Given the description of an element on the screen output the (x, y) to click on. 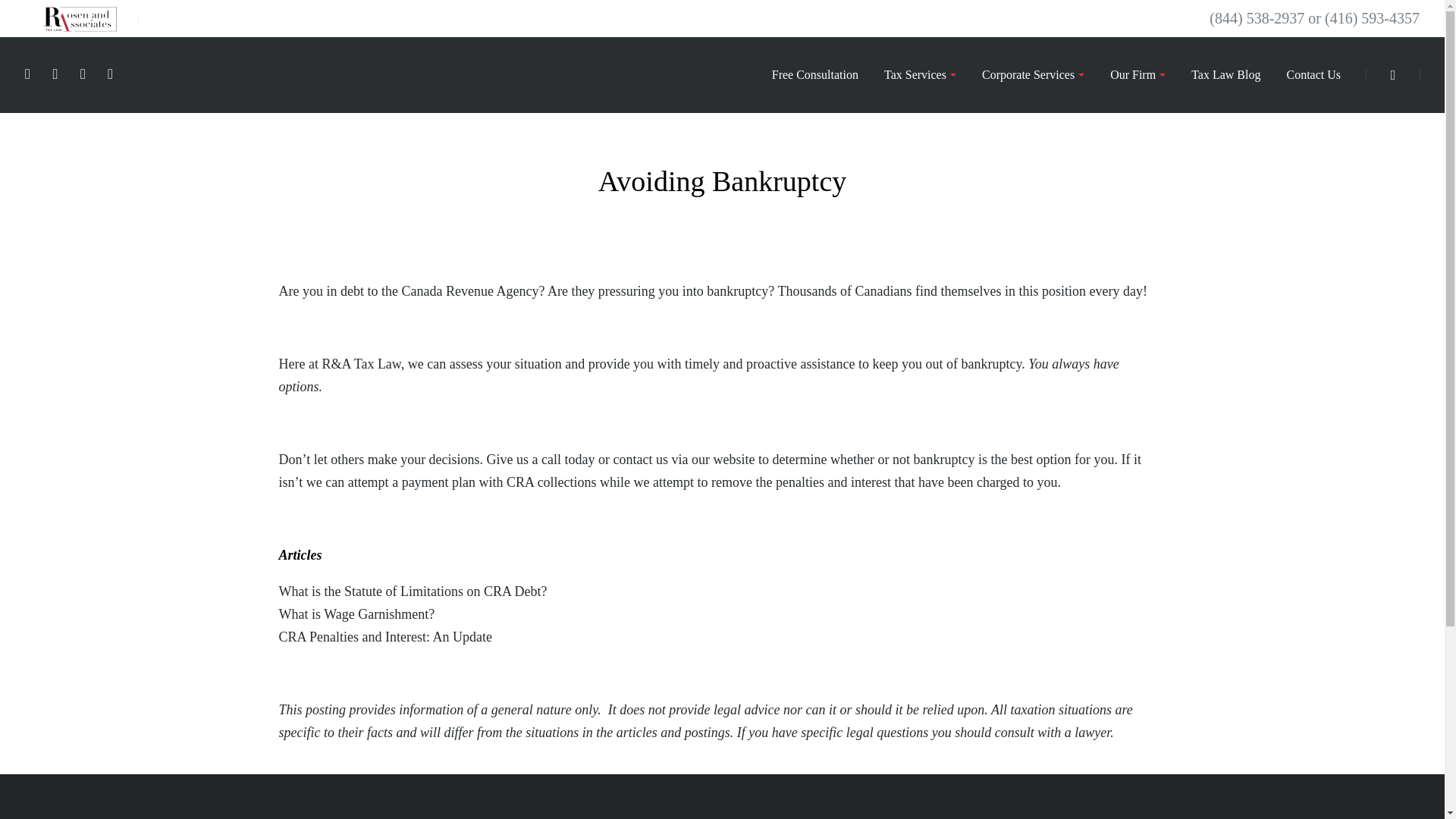
Our Firm (1137, 74)
Corporate Services (1032, 74)
Tax Services (920, 74)
Free Consultation (814, 74)
